Given the description of an element on the screen output the (x, y) to click on. 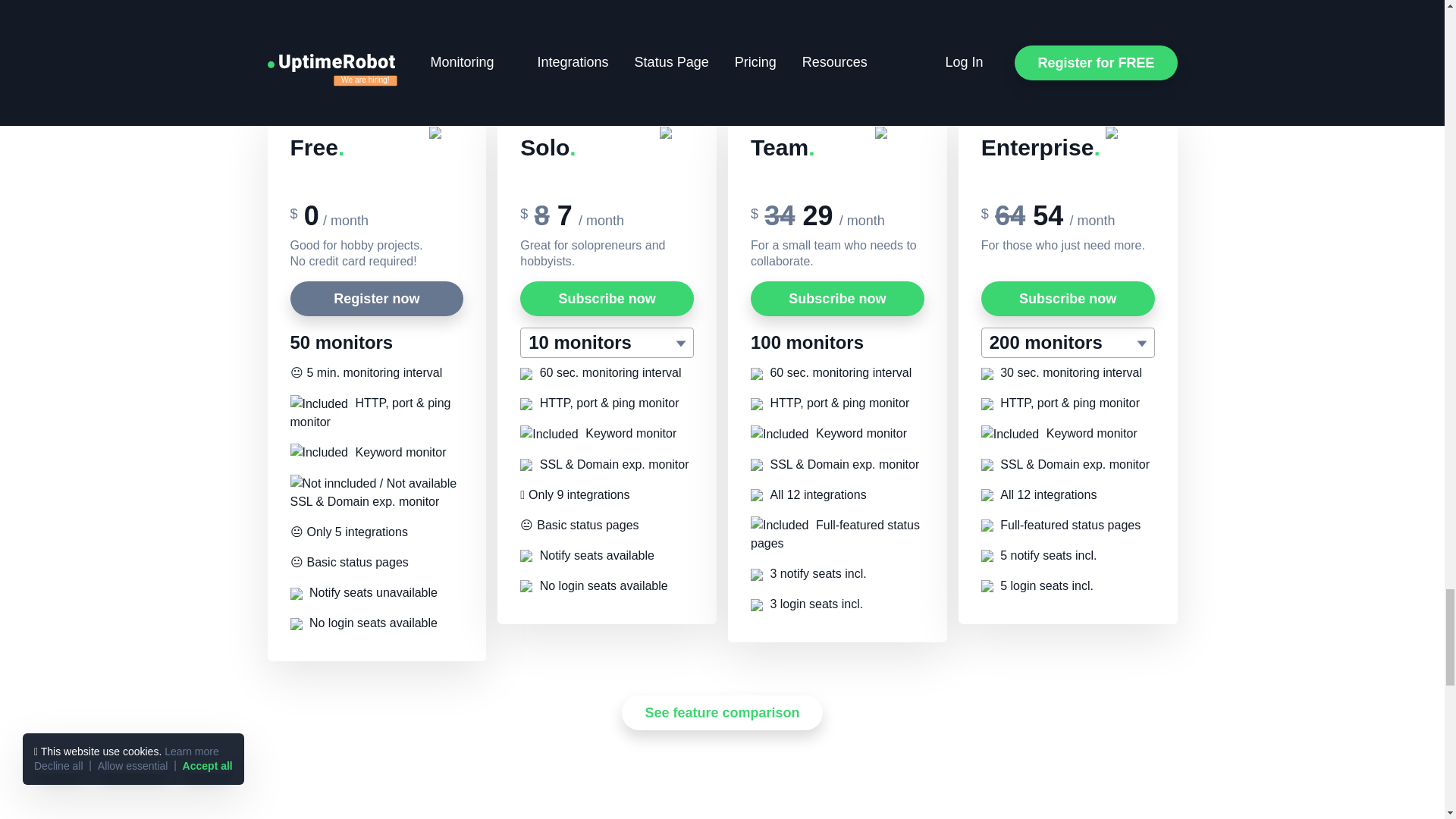
200 monitors (1068, 342)
10 monitors (606, 342)
